Given the description of an element on the screen output the (x, y) to click on. 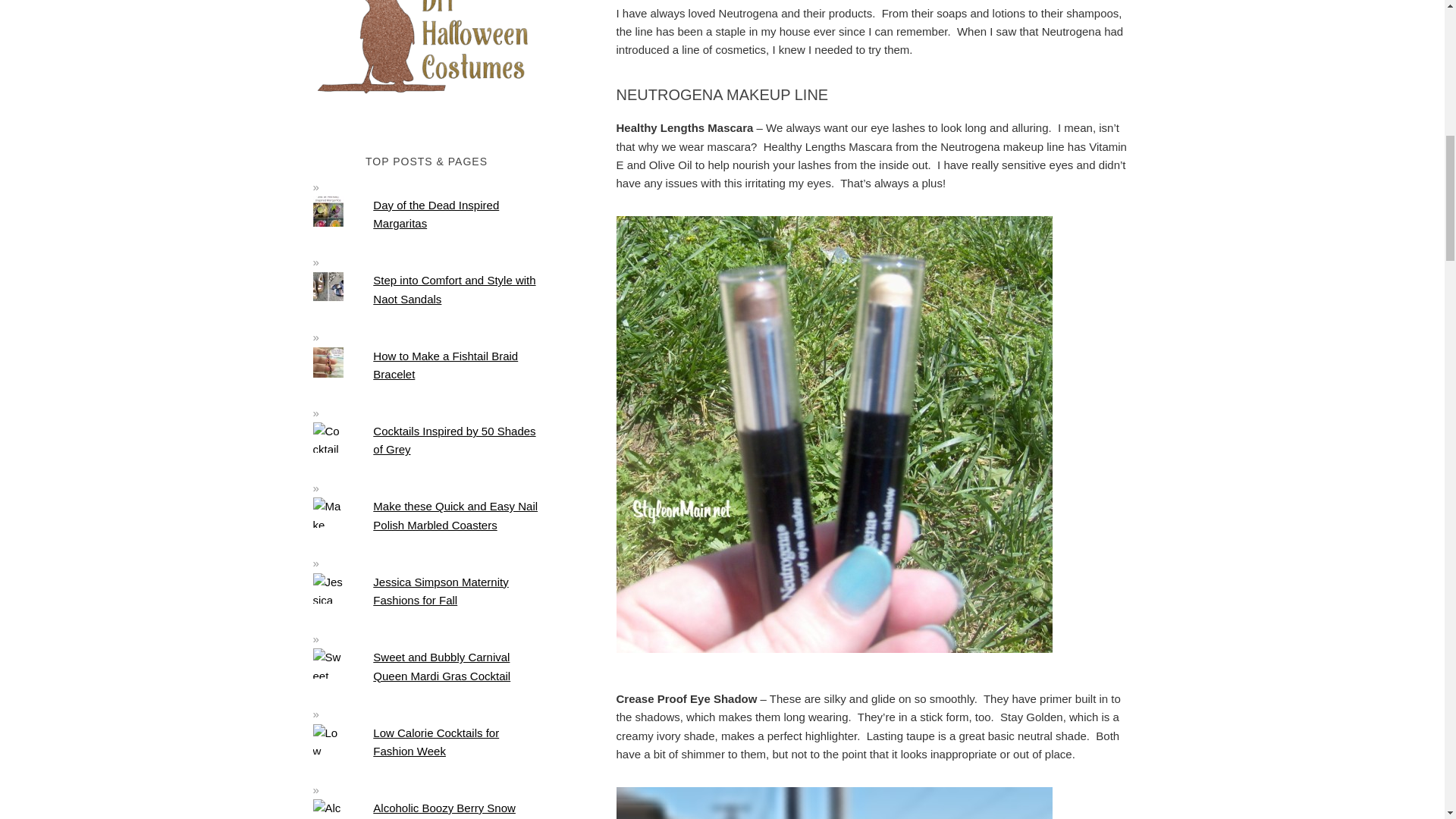
Make these Quick and Easy Nail Polish Marbled Coasters (454, 514)
Jessica Simpson Maternity Fashions for Fall (440, 590)
Cocktails Inspired by 50 Shades of Grey (453, 440)
How to Make a Fishtail Braid Bracelet (445, 364)
Day of the Dead Inspired Margaritas (435, 214)
Step into Comfort and Style with Naot Sandals (453, 288)
